Given the description of an element on the screen output the (x, y) to click on. 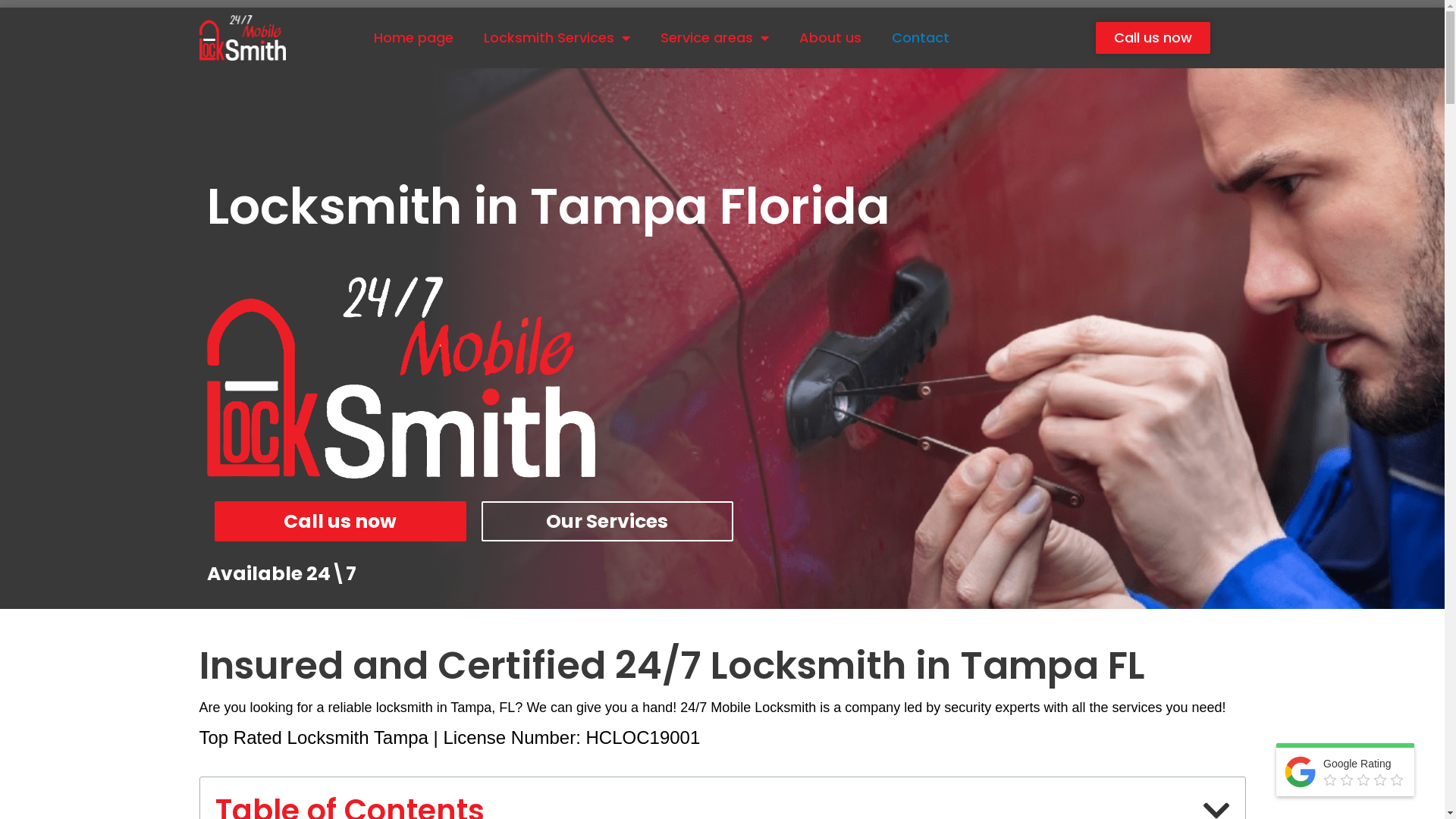
Our Services Element type: text (607, 521)
Contact Element type: text (920, 37)
Home page Element type: text (413, 37)
Call us now Element type: text (1152, 37)
About us Element type: text (830, 37)
Call us now Element type: text (339, 521)
Locksmith Services Element type: text (556, 37)
Service areas Element type: text (714, 37)
